Given the description of an element on the screen output the (x, y) to click on. 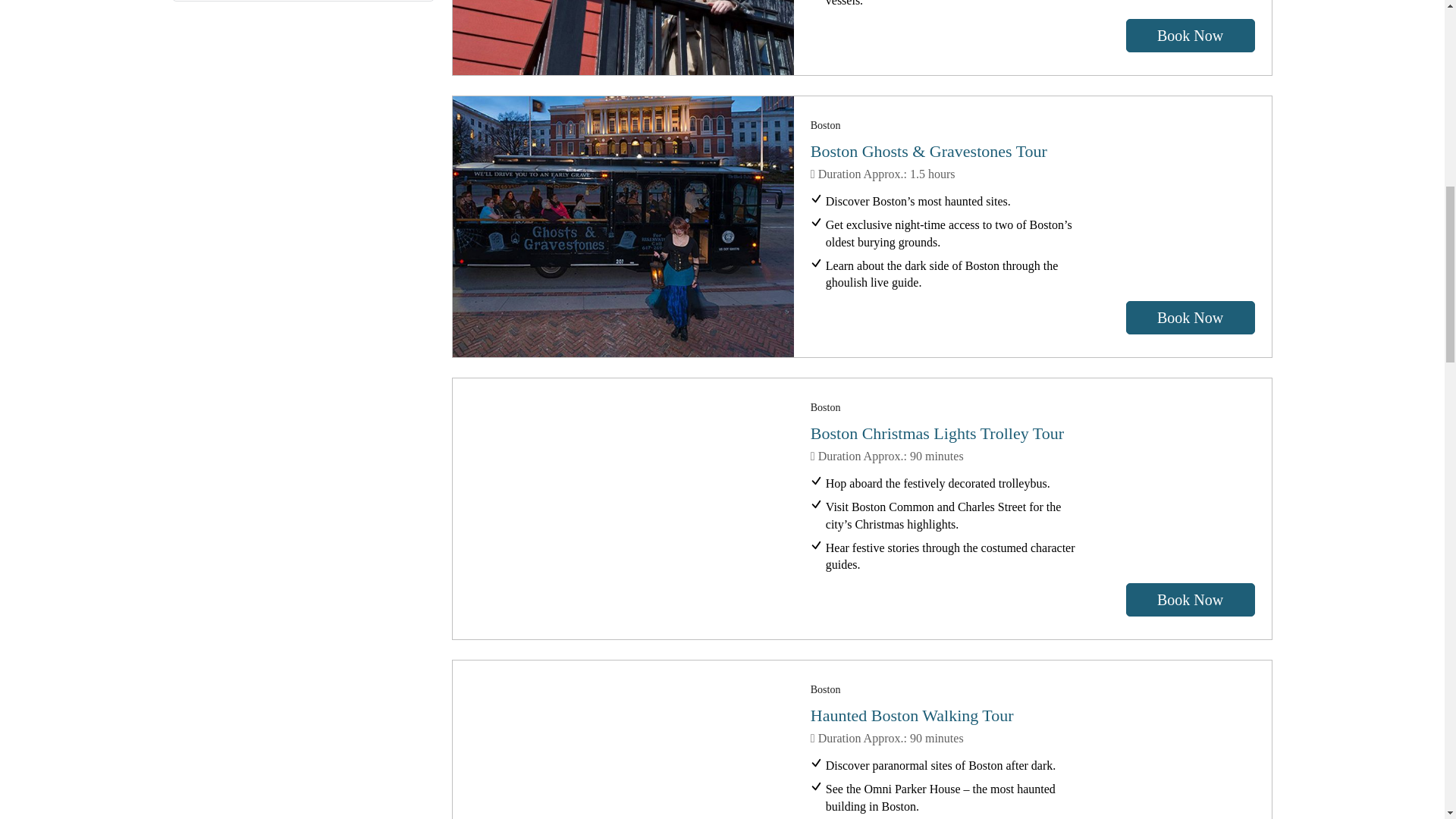
A photo of a Boston Christmas Lights Tour. (622, 508)
